Given the description of an element on the screen output the (x, y) to click on. 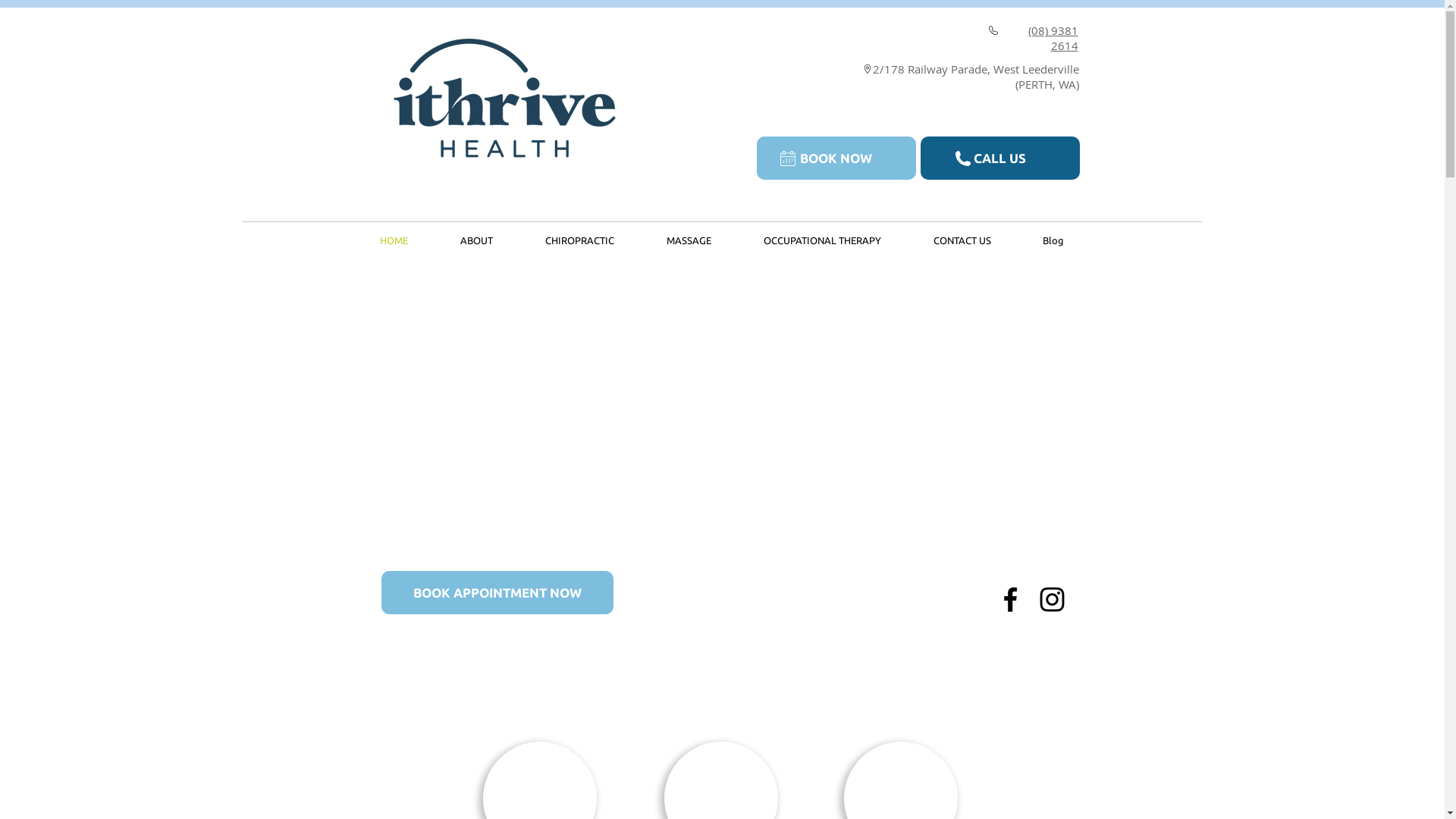
(08) 9381 2614 Element type: text (1053, 37)
ABOUT Element type: text (475, 240)
MASSAGE Element type: text (688, 240)
BOOK NOW Element type: text (836, 157)
CALL US Element type: text (999, 157)
Blog Element type: text (1052, 240)
BOOK APPOINTMENT NOW Element type: text (496, 592)
OCCUPATIONAL THERAPY Element type: text (821, 240)
CONTACT US Element type: text (961, 240)
HOME Element type: text (393, 240)
iThrive Health Element type: hover (496, 96)
2/178 Railway Parade, West Leederville (PERTH, WA) Element type: text (975, 76)
CHIROPRACTIC Element type: text (579, 240)
